Given the description of an element on the screen output the (x, y) to click on. 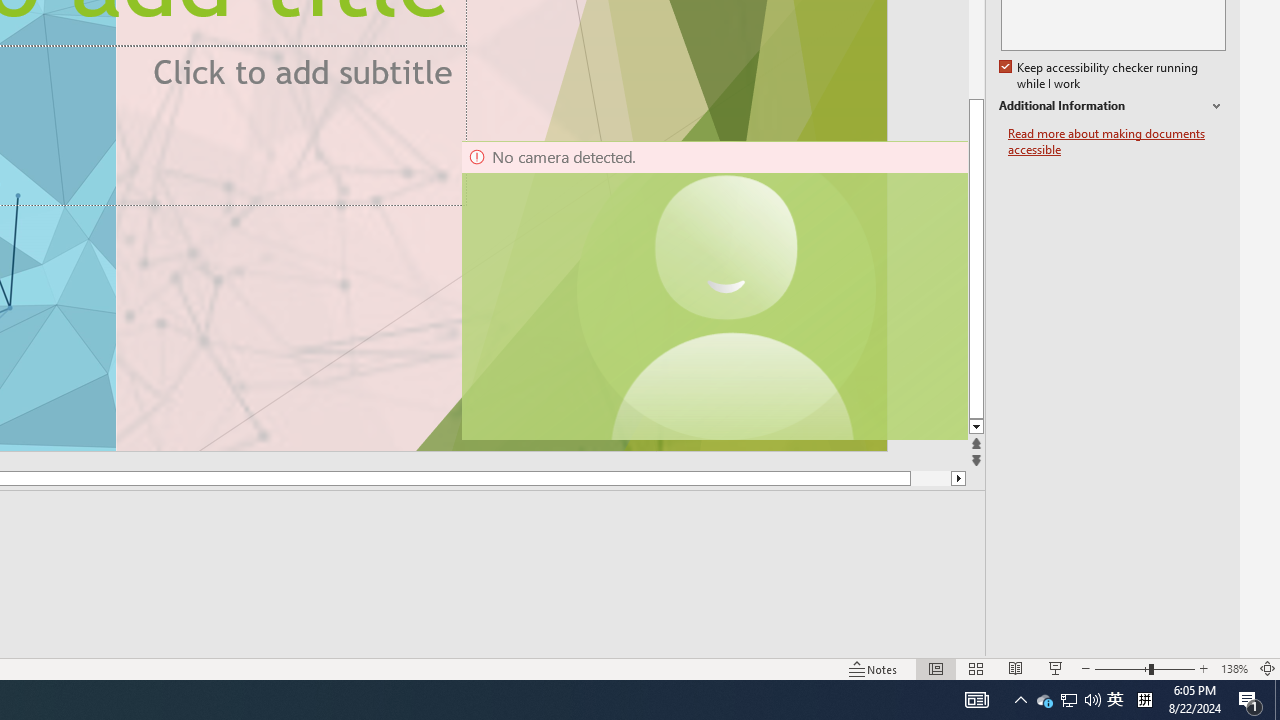
Reading View (1015, 668)
